Given the description of an element on the screen output the (x, y) to click on. 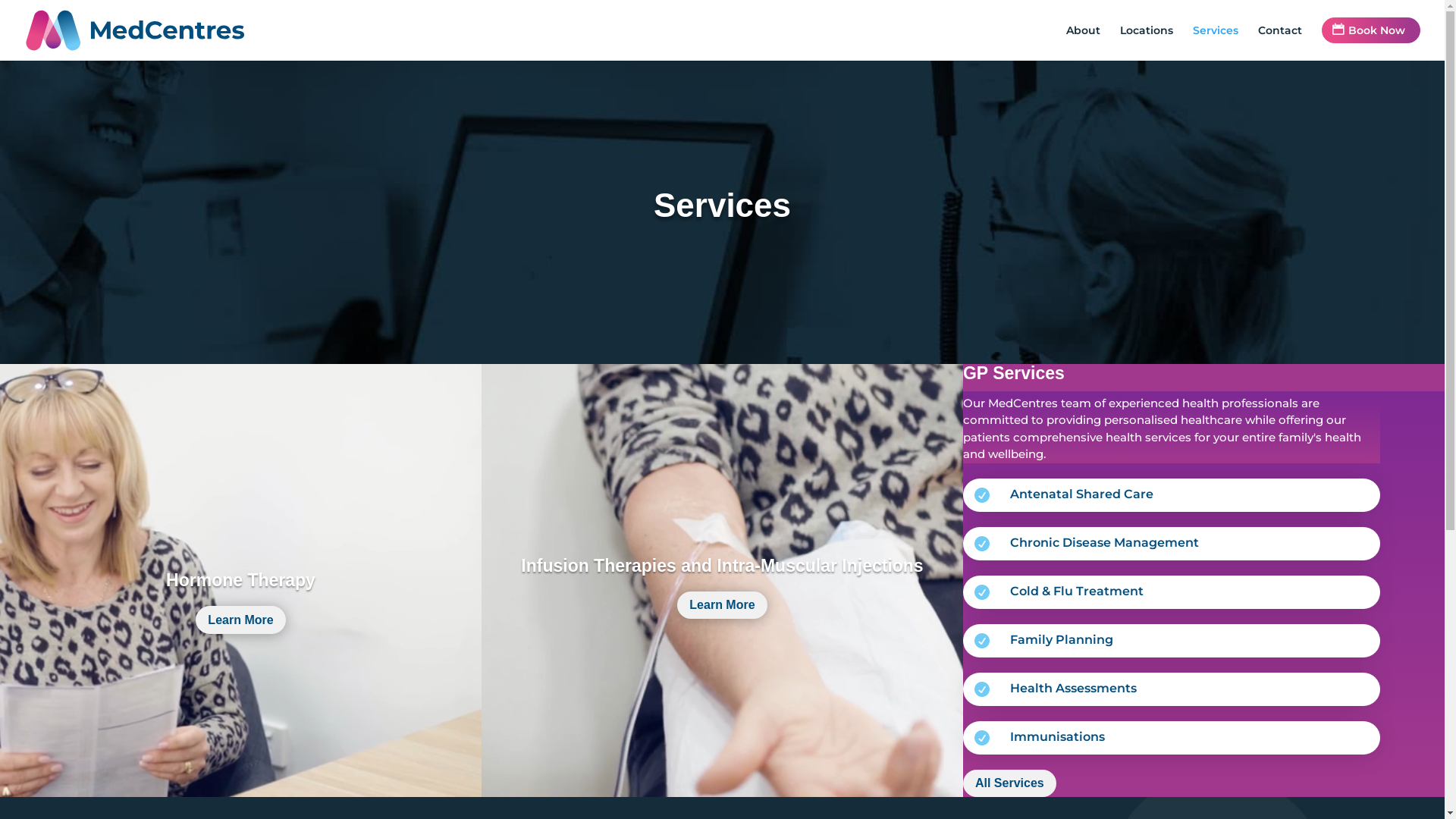
About Element type: text (1083, 42)
Learn More Element type: text (721, 605)
Contact Element type: text (1280, 42)
All Services Element type: text (1009, 783)
Book Now Element type: text (1370, 30)
Locations Element type: text (1146, 42)
Learn More Element type: text (240, 619)
Services Element type: text (1215, 42)
